Given the description of an element on the screen output the (x, y) to click on. 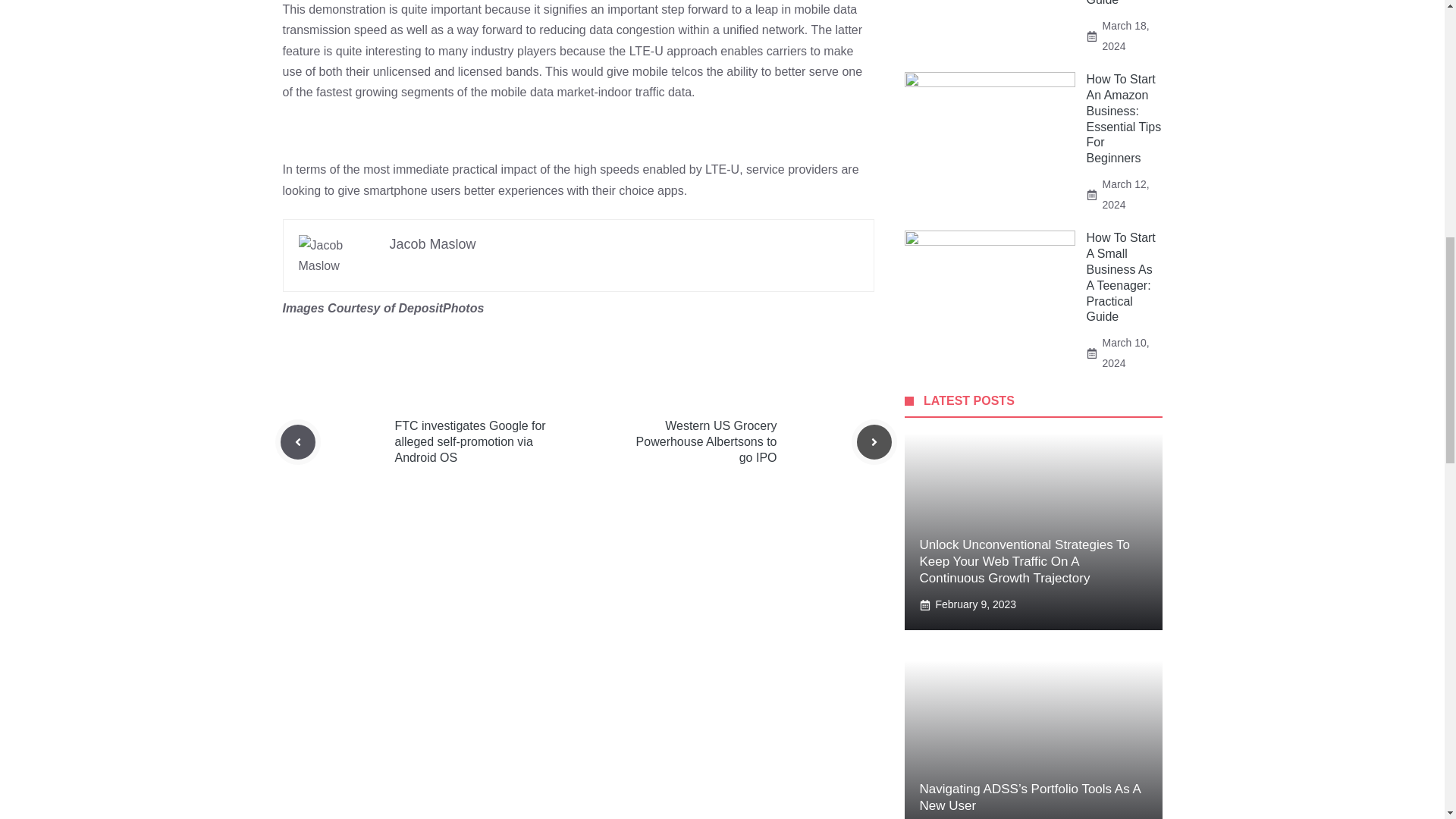
How to Start a Dance Studio: Your Step-by-Step Success Guide (1121, 2)
Jacob Maslow (433, 243)
Western US Grocery Powerhouse Albertsons to go IPO (706, 441)
Scroll back to top (1406, 720)
DepositPhotos (440, 308)
